Given the description of an element on the screen output the (x, y) to click on. 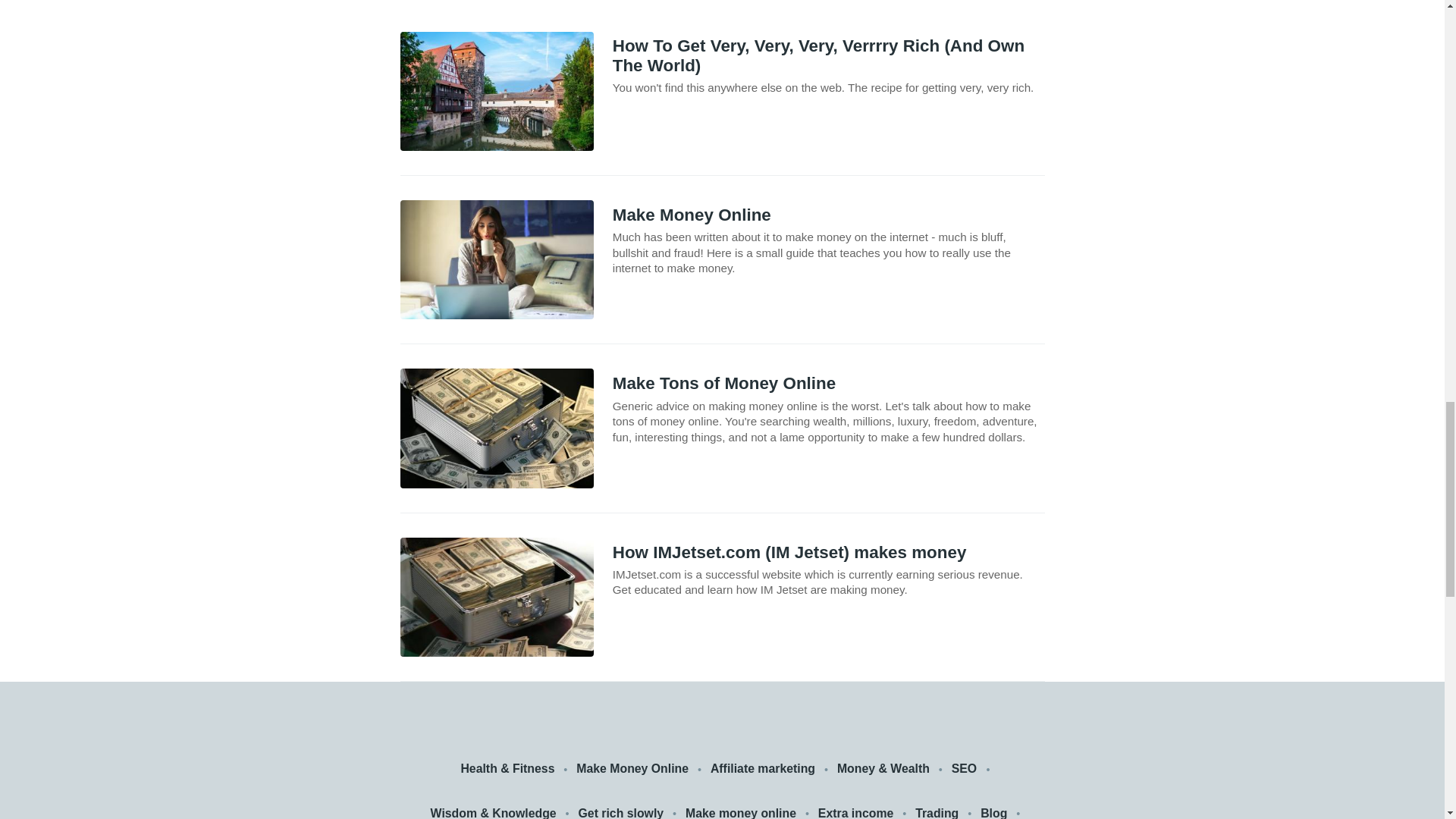
Blog (993, 811)
Make money online (740, 811)
Affiliate marketing (762, 769)
Extra income (855, 811)
Trading (936, 811)
Get rich slowly (620, 811)
Make Money Online (632, 769)
SEO (965, 769)
